Given the description of an element on the screen output the (x, y) to click on. 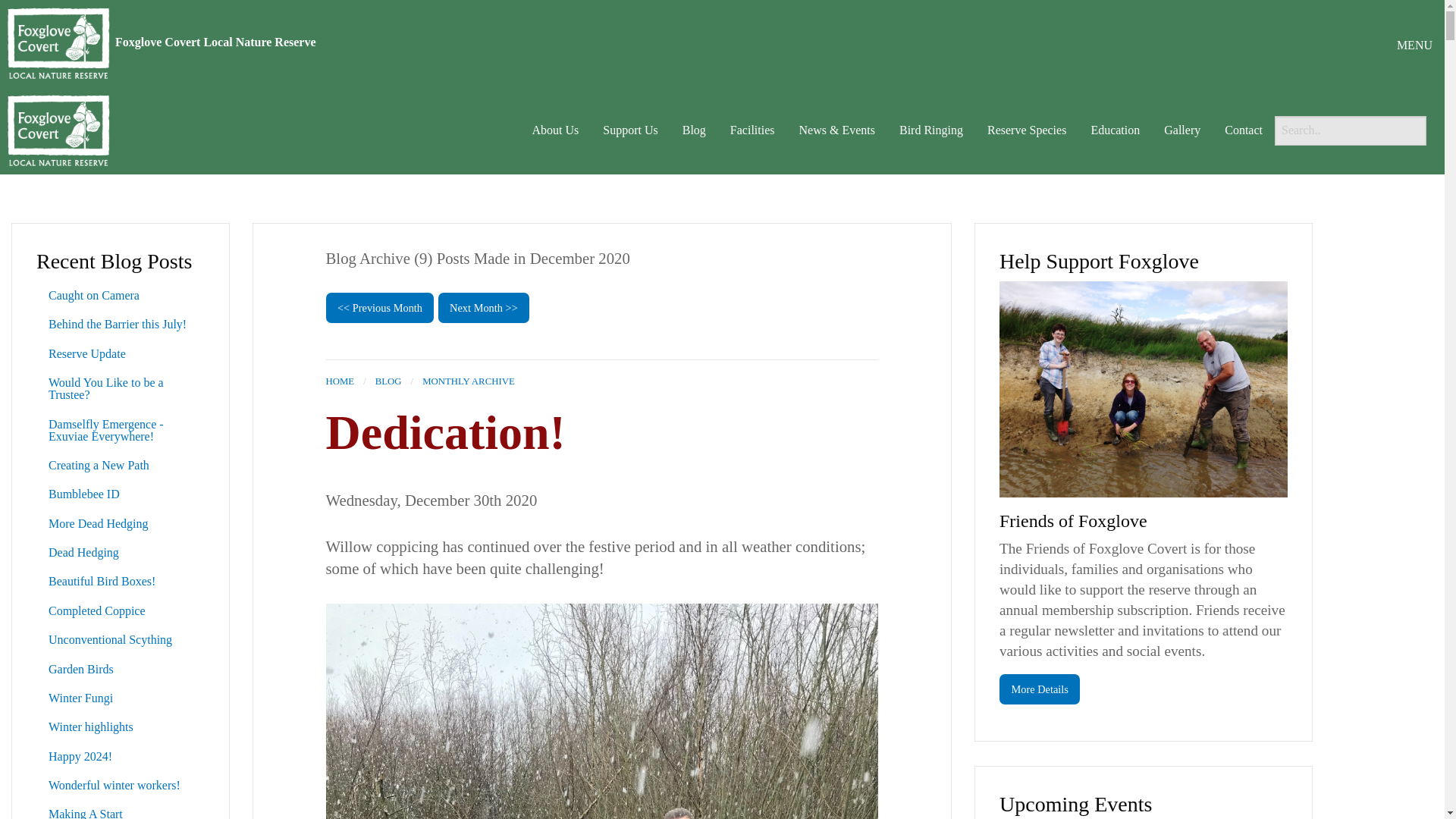
Education (1114, 130)
Home - Foxglove Covert Local Nature Reserve (58, 42)
Support Us (630, 130)
Foxglove Covert Local Nature Reserve (215, 42)
About Us (555, 130)
Reserve Species (1026, 130)
MENU (1414, 45)
Facilities (752, 130)
Home - Foxglove Covert Local Nature Reserve (58, 128)
Blog (693, 130)
